Given the description of an element on the screen output the (x, y) to click on. 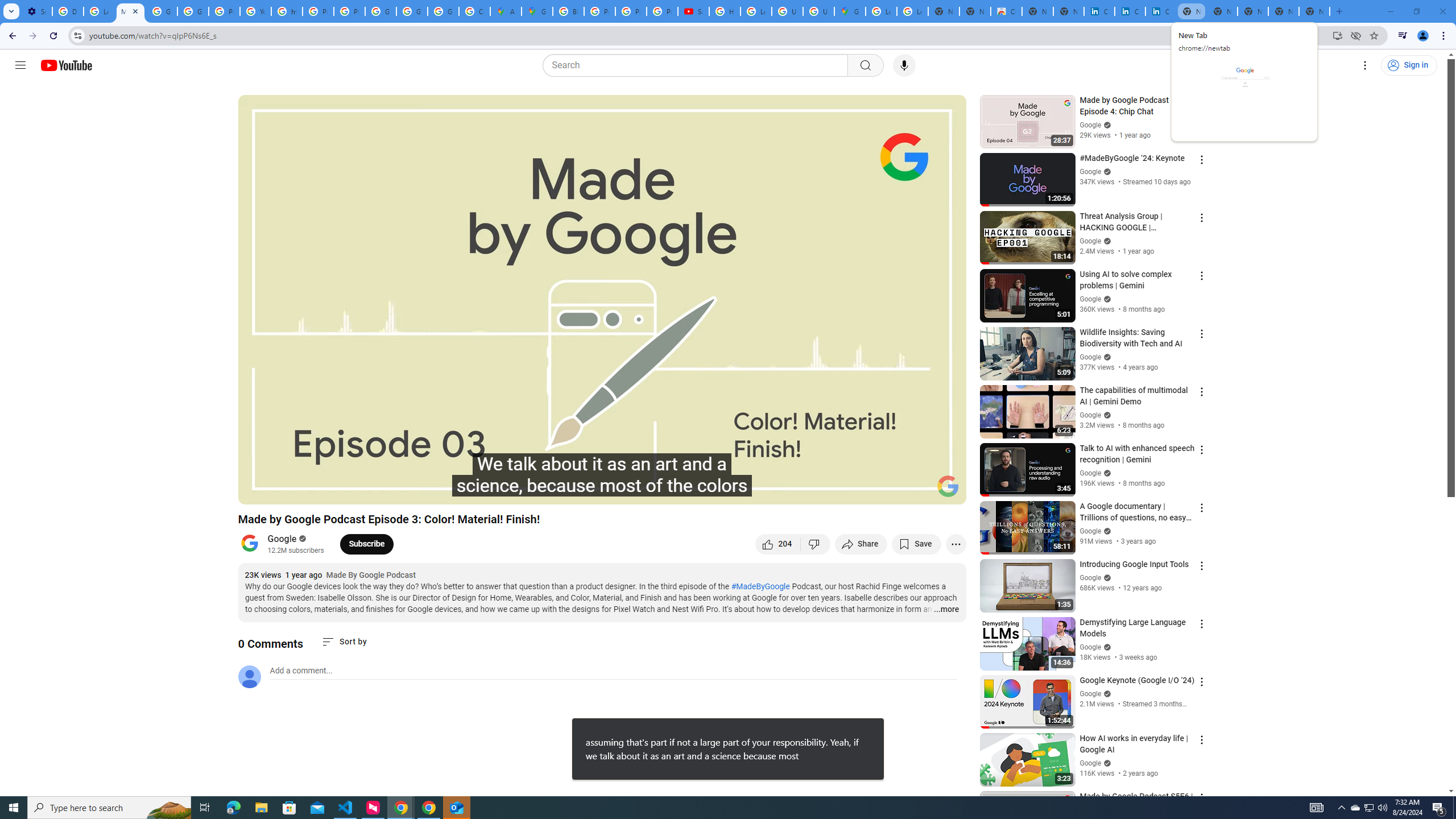
Share (861, 543)
Install YouTube (1336, 35)
Google Maps (849, 11)
Subscriptions - YouTube (693, 11)
Save to playlist (915, 543)
Action Center, 5 new notifications (1439, 807)
Miniplayer (i) (890, 490)
More actions (955, 543)
Settings - Customize profile (36, 11)
